Given the description of an element on the screen output the (x, y) to click on. 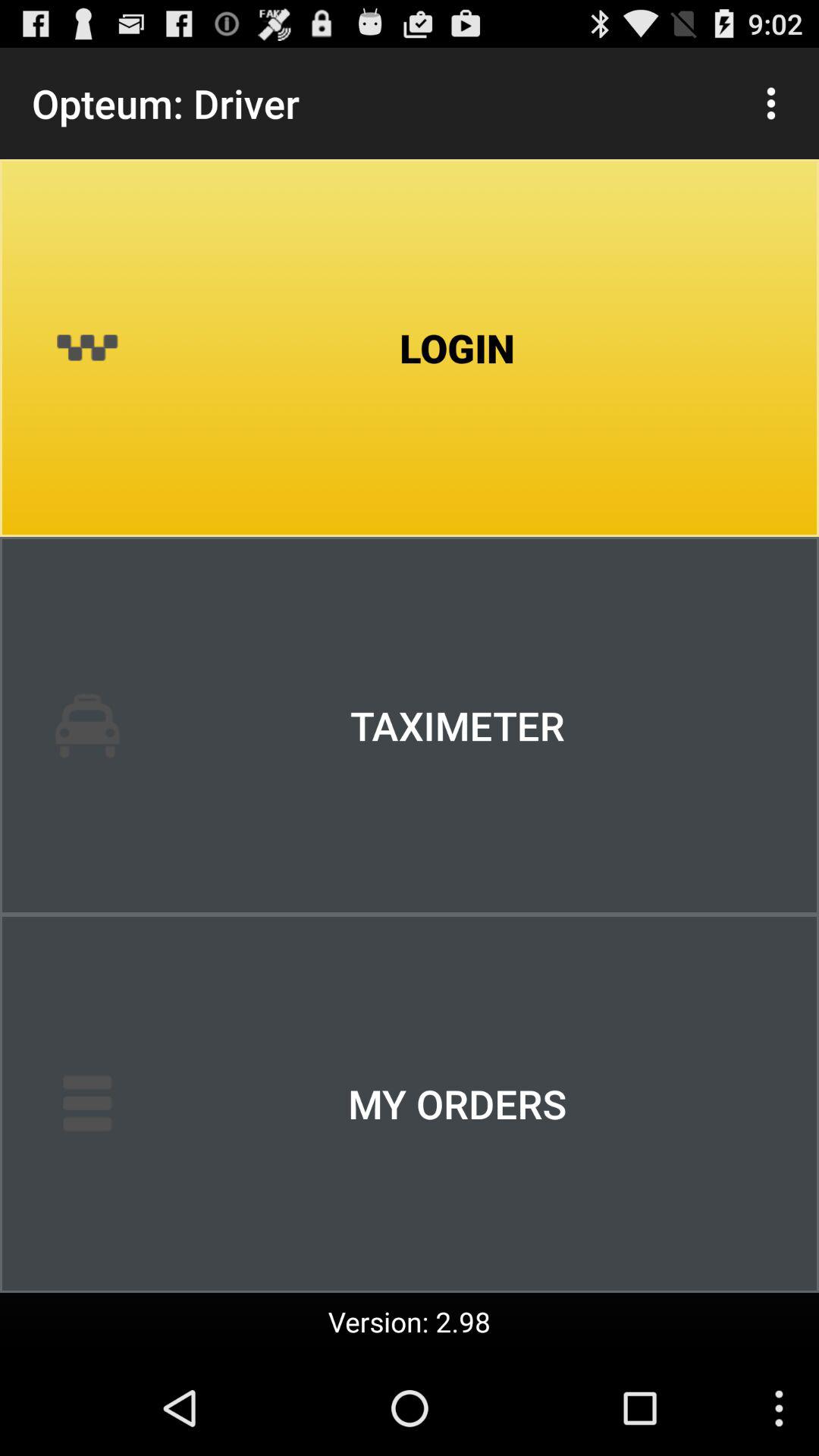
turn off the item above the taximeter item (409, 347)
